Given the description of an element on the screen output the (x, y) to click on. 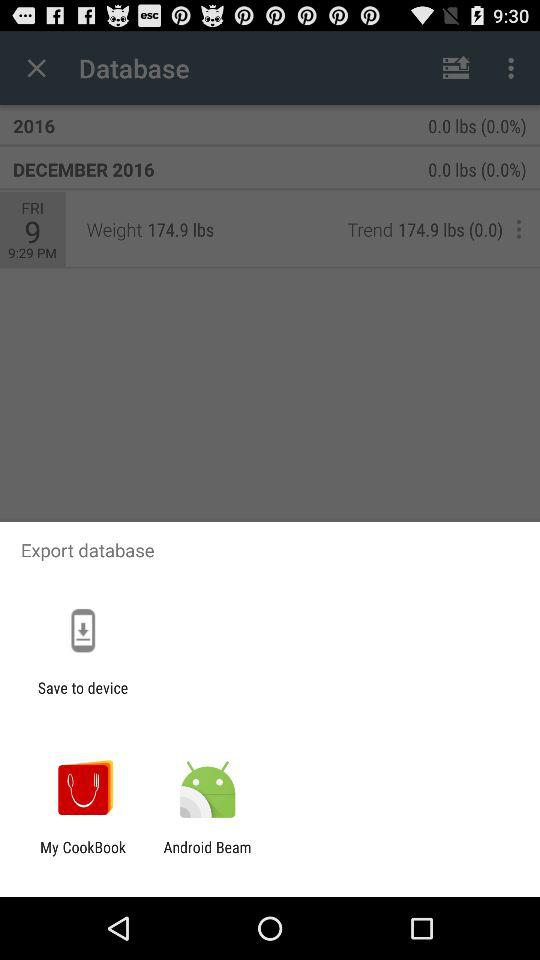
open the app next to the my cookbook (207, 856)
